Given the description of an element on the screen output the (x, y) to click on. 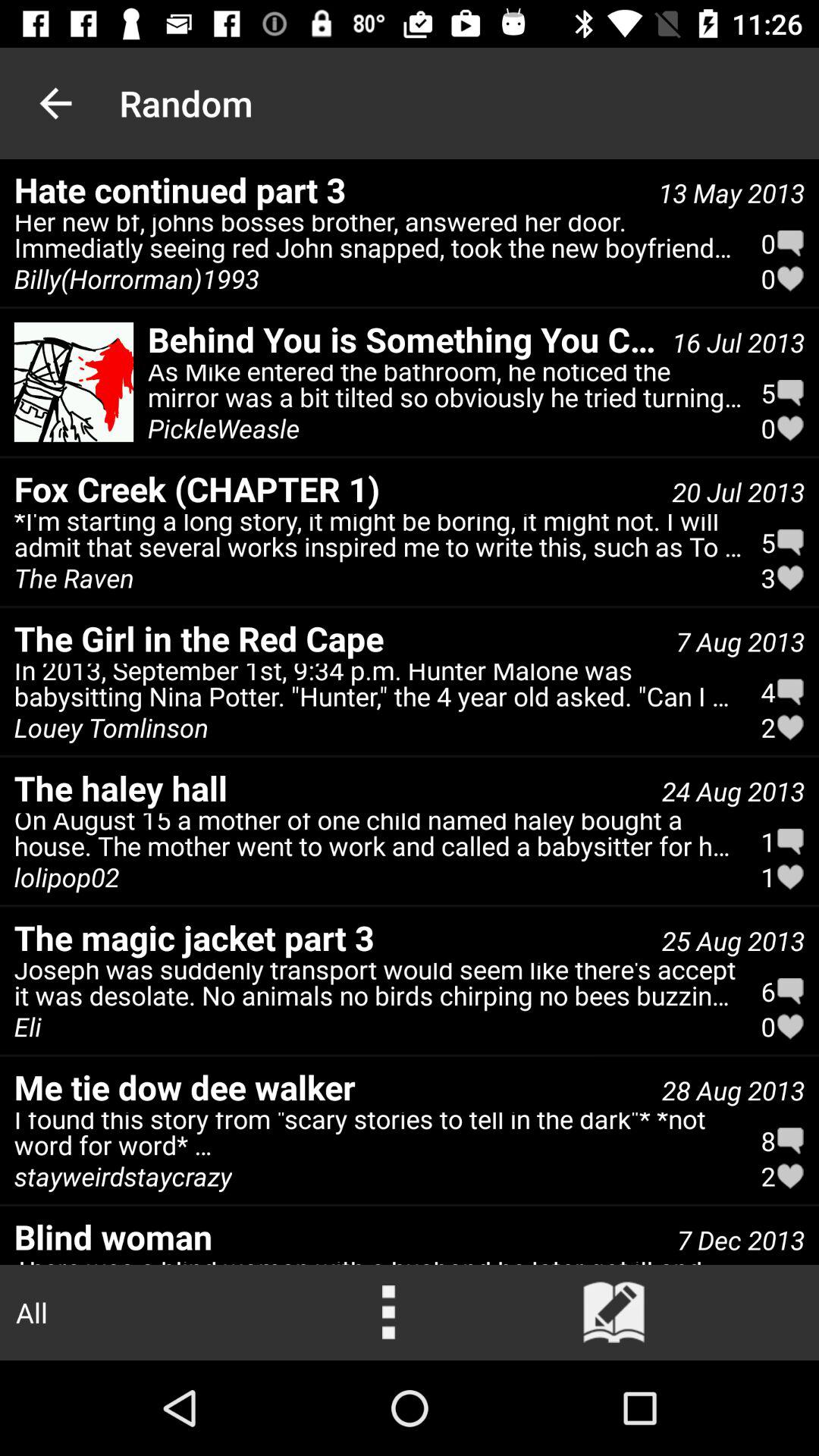
tap icon above the haley hall (378, 688)
